Given the description of an element on the screen output the (x, y) to click on. 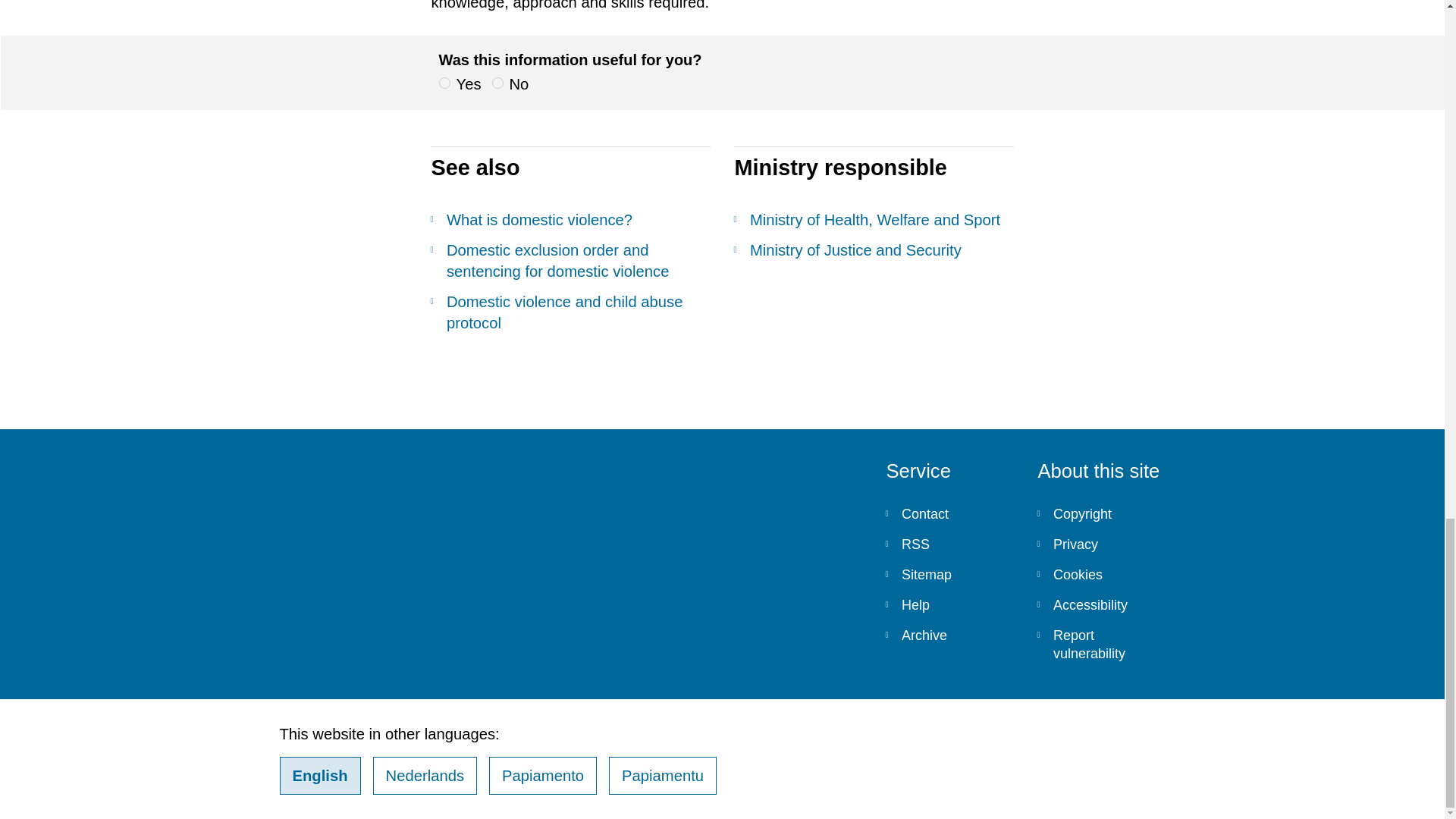
Report vulnerability (1100, 644)
Copyright (1100, 513)
Help (949, 604)
RSS (949, 544)
Papiamento (542, 775)
Ministry of Health, Welfare and Sport (873, 219)
What is domestic violence? (570, 219)
Sitemap (949, 574)
nee (497, 82)
